Given the description of an element on the screen output the (x, y) to click on. 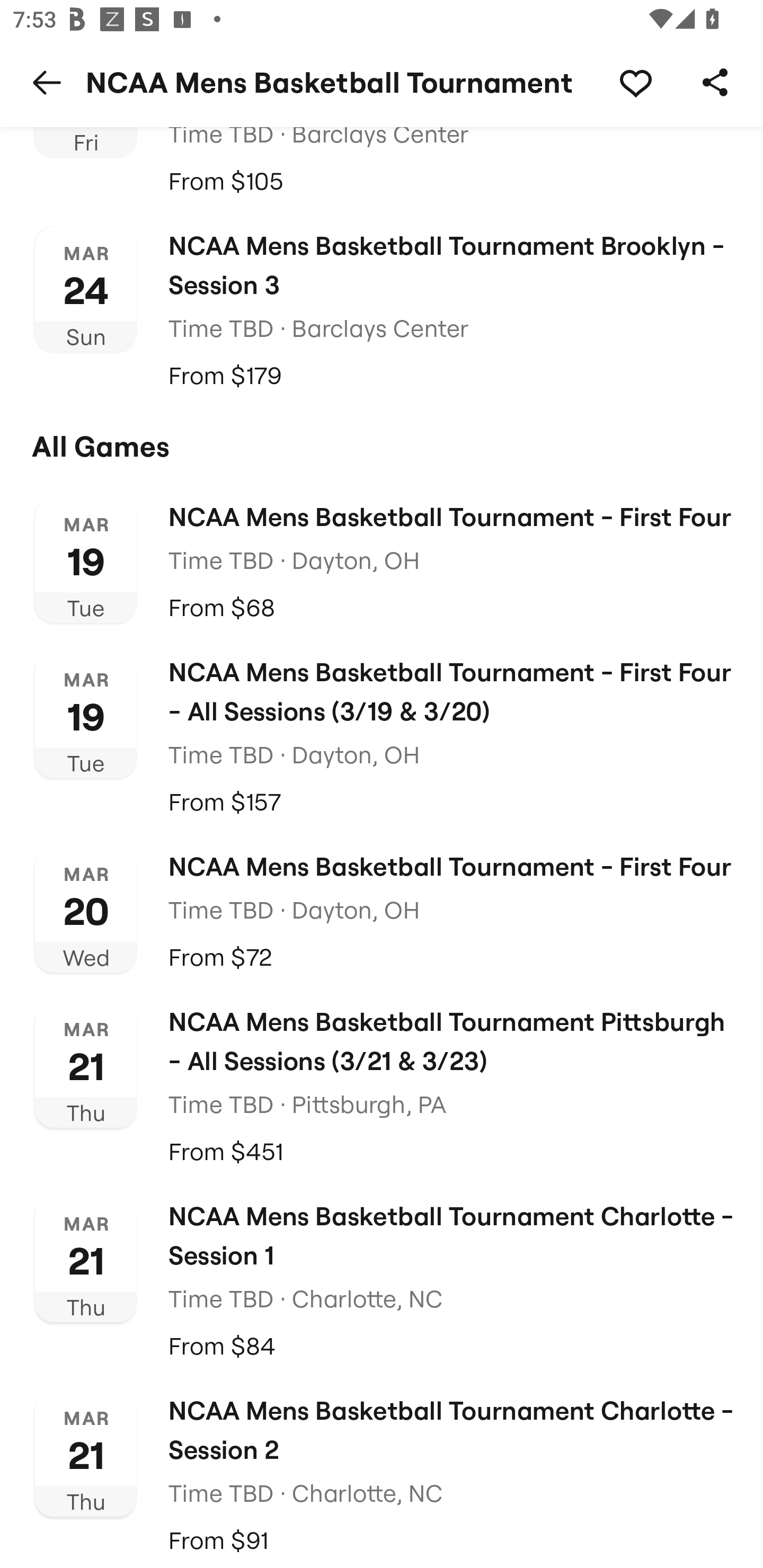
Back (47, 81)
Track this performer (635, 81)
Share this performer (715, 81)
